Given the description of an element on the screen output the (x, y) to click on. 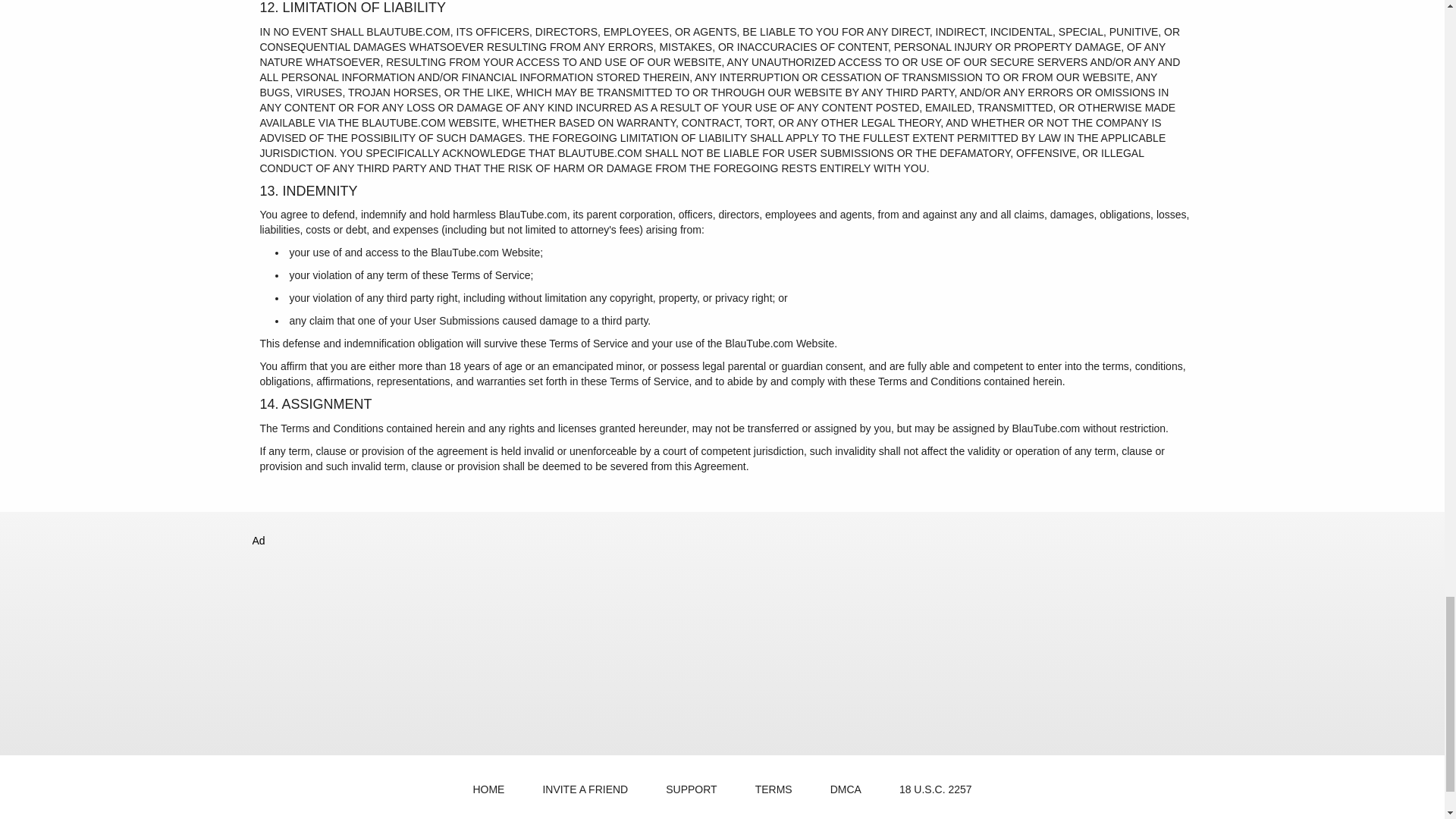
INVITE A FRIEND (585, 789)
18 U.S.C. 2257 (935, 789)
SUPPORT (691, 789)
TERMS (773, 789)
HOME (488, 789)
DMCA (845, 789)
